Given the description of an element on the screen output the (x, y) to click on. 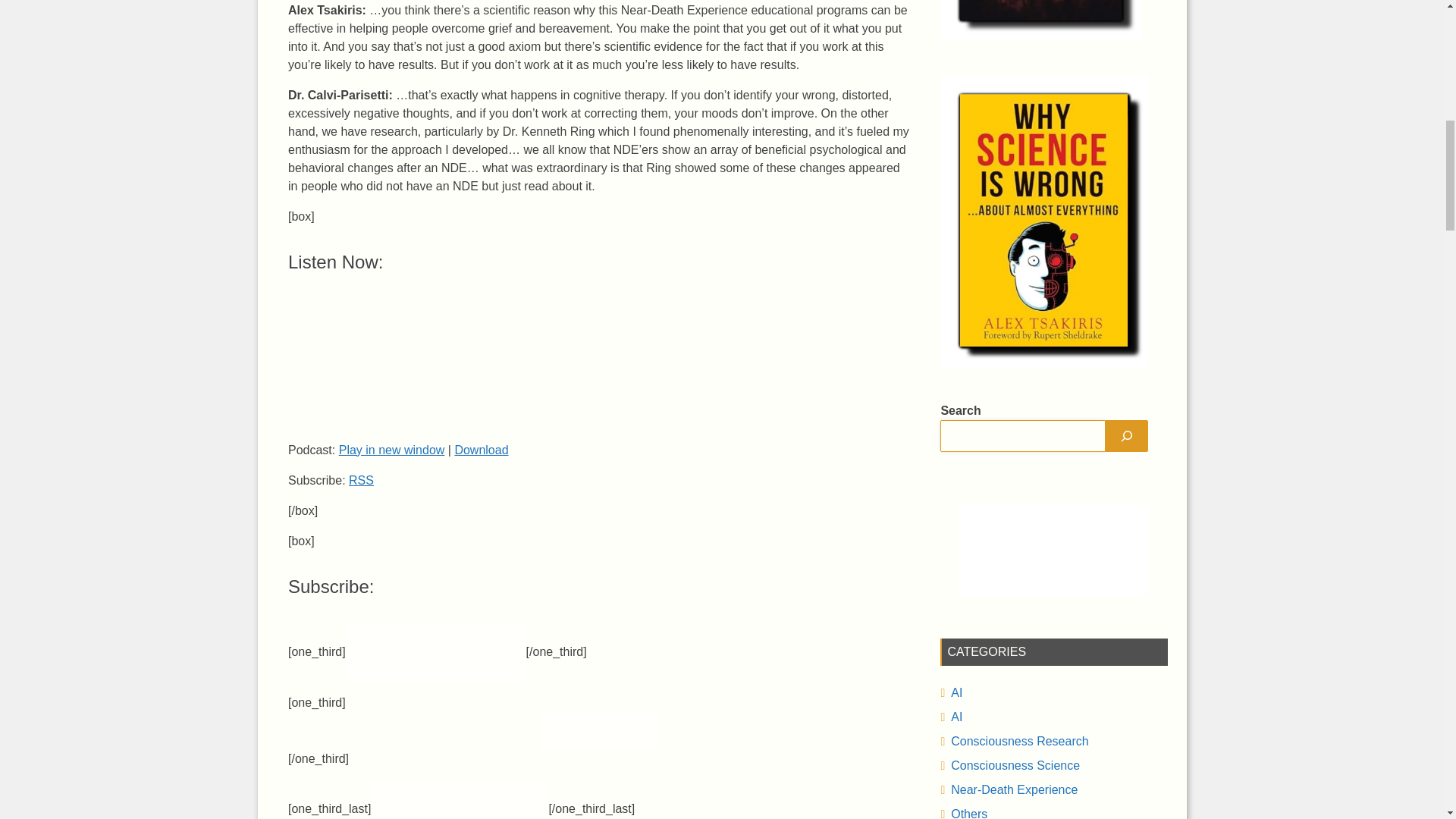
Play in new window (392, 449)
RSS (361, 480)
Download (481, 449)
Subscribe via RSS (361, 480)
Download (481, 449)
Blubrry Podcast Player (599, 361)
Play in new window (392, 449)
